Given the description of an element on the screen output the (x, y) to click on. 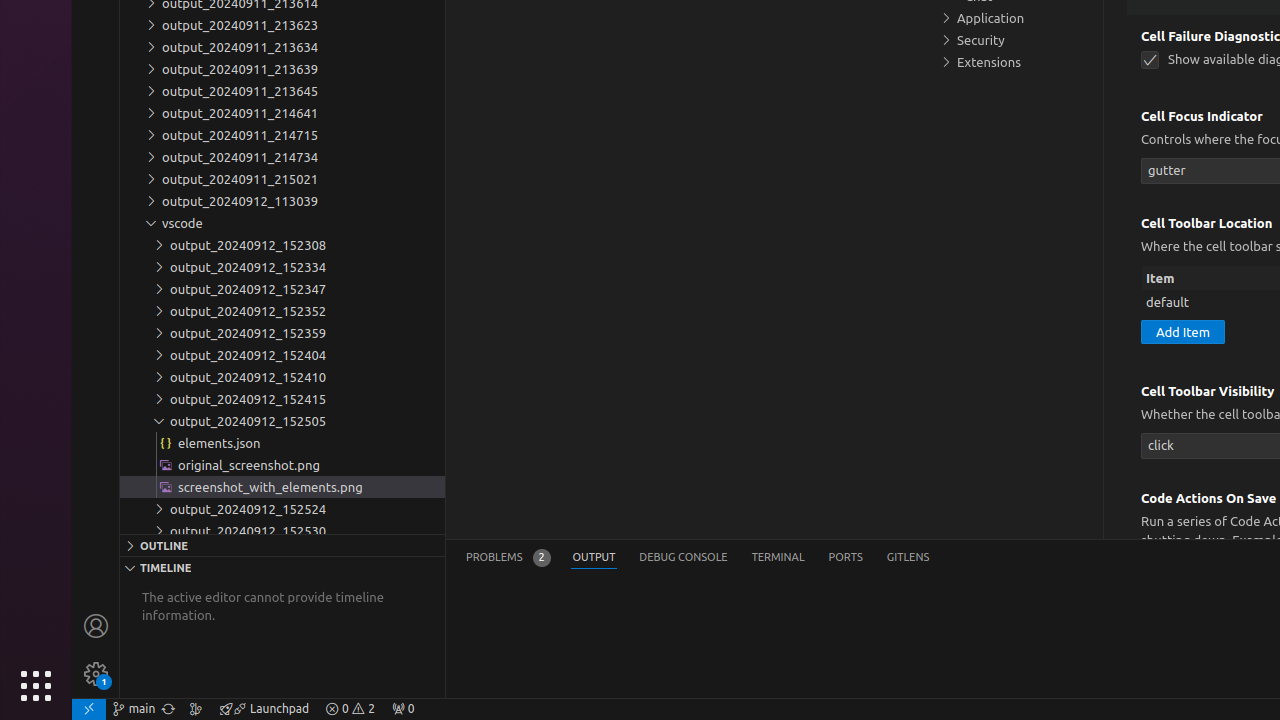
Security, group Element type: tree-item (1015, 40)
output_20240912_152352 Element type: tree-item (282, 311)
No Ports Forwarded Element type: push-button (403, 709)
output_20240912_152524 Element type: tree-item (282, 509)
